Given the description of an element on the screen output the (x, y) to click on. 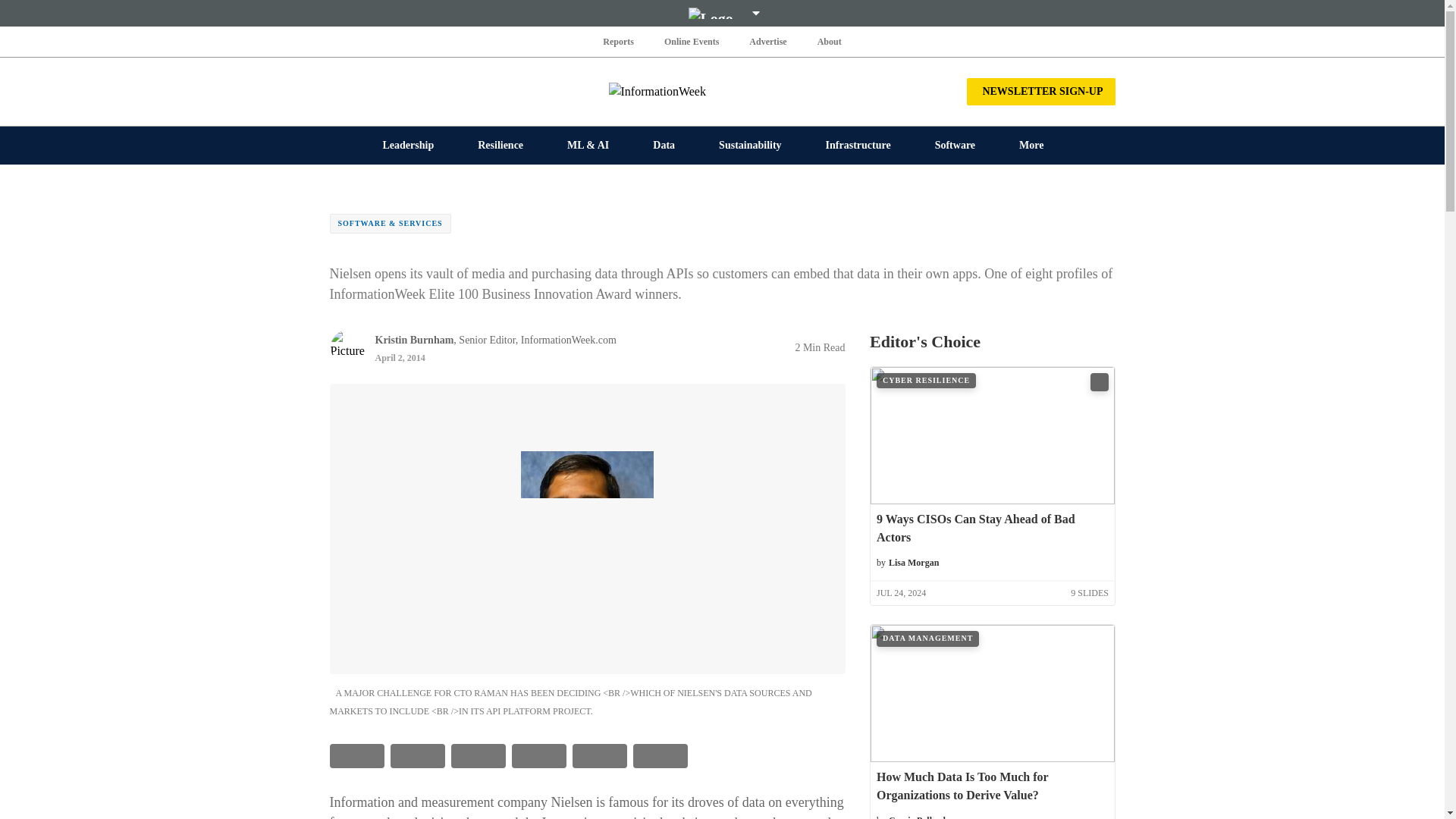
Advertise (767, 41)
InformationWeek (721, 91)
Reports (618, 41)
Online Events (691, 41)
About (828, 41)
NEWSLETTER SIGN-UP (1040, 90)
